Given the description of an element on the screen output the (x, y) to click on. 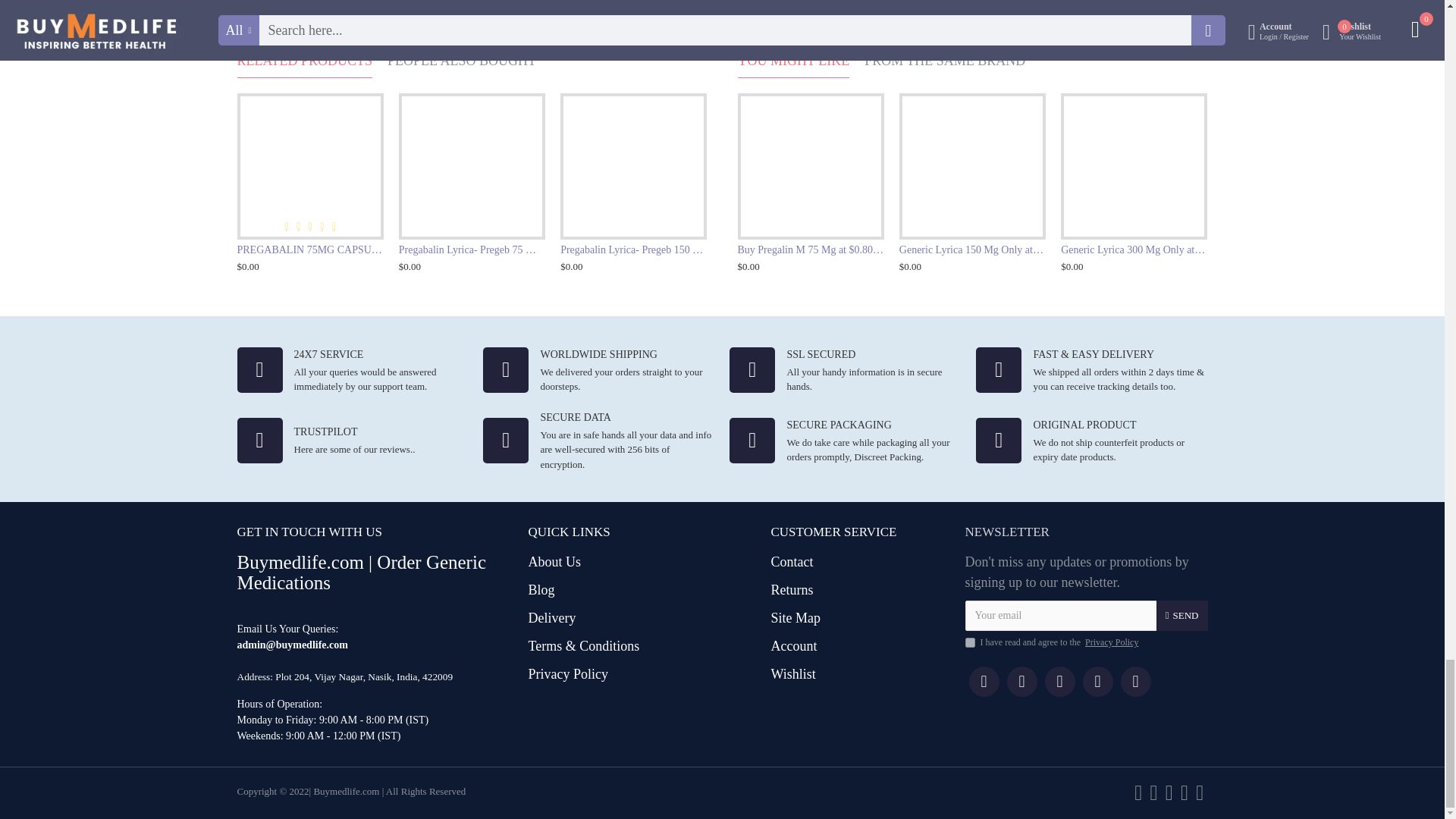
1 (968, 642)
